Given the description of an element on the screen output the (x, y) to click on. 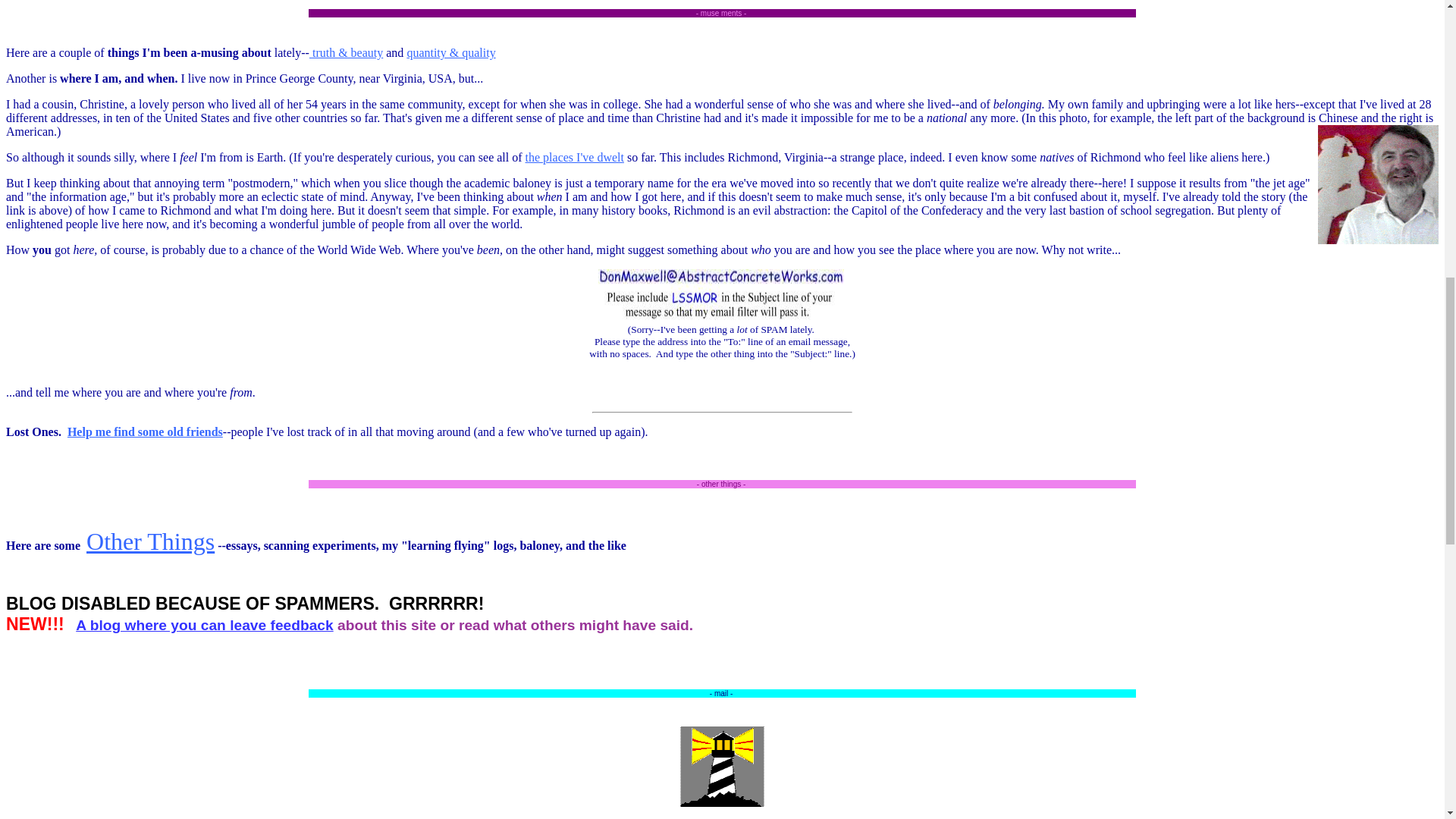
the places I've dwelt (574, 156)
Other Things (149, 541)
A blog where you can leave feedback (204, 625)
Help me find some old friends (144, 431)
